Given the description of an element on the screen output the (x, y) to click on. 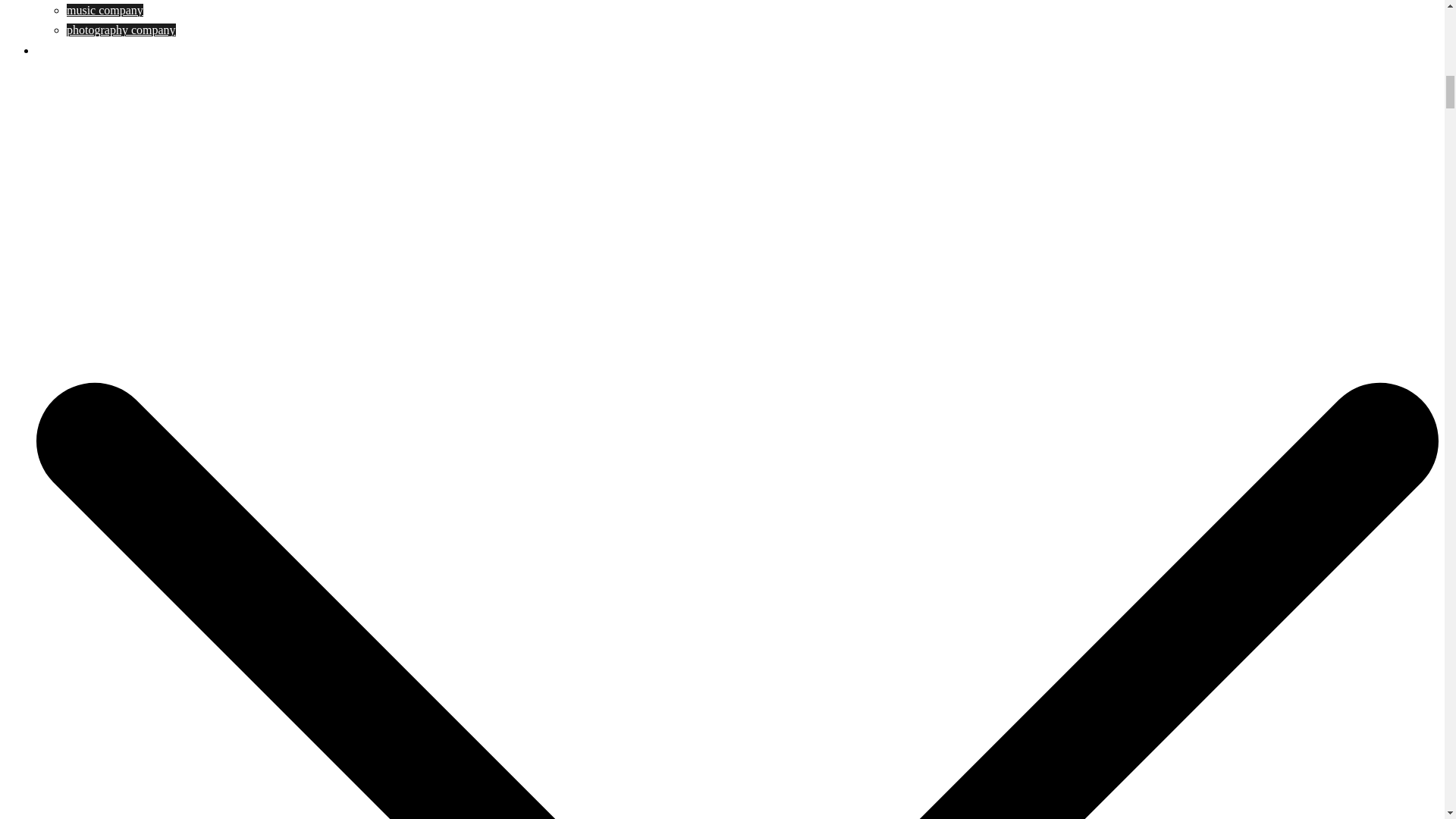
music company (104, 10)
Entertainer (63, 50)
photography company (121, 29)
